Given the description of an element on the screen output the (x, y) to click on. 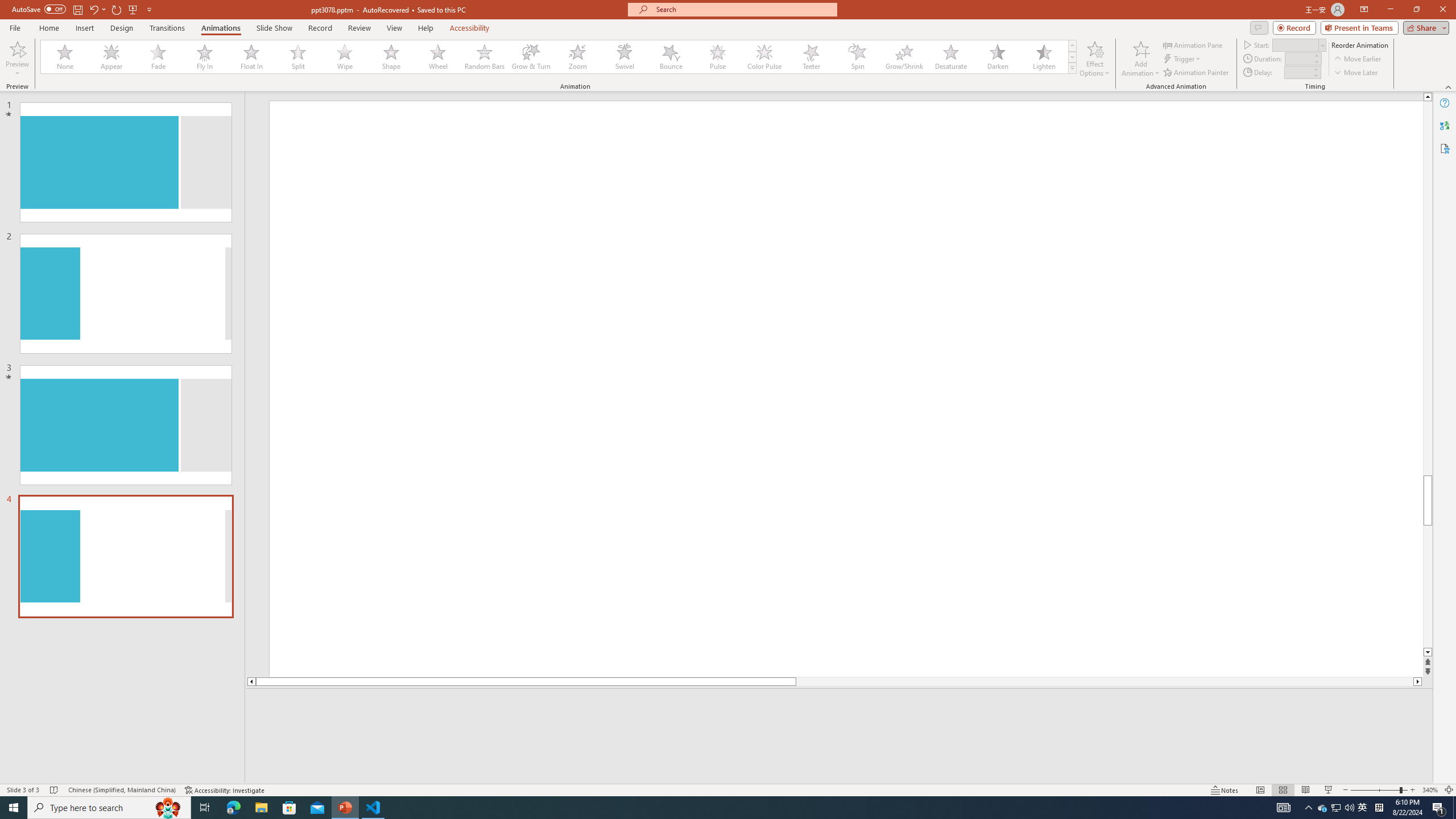
Zoom 340% (1430, 790)
Wheel (437, 56)
